Given the description of an element on the screen output the (x, y) to click on. 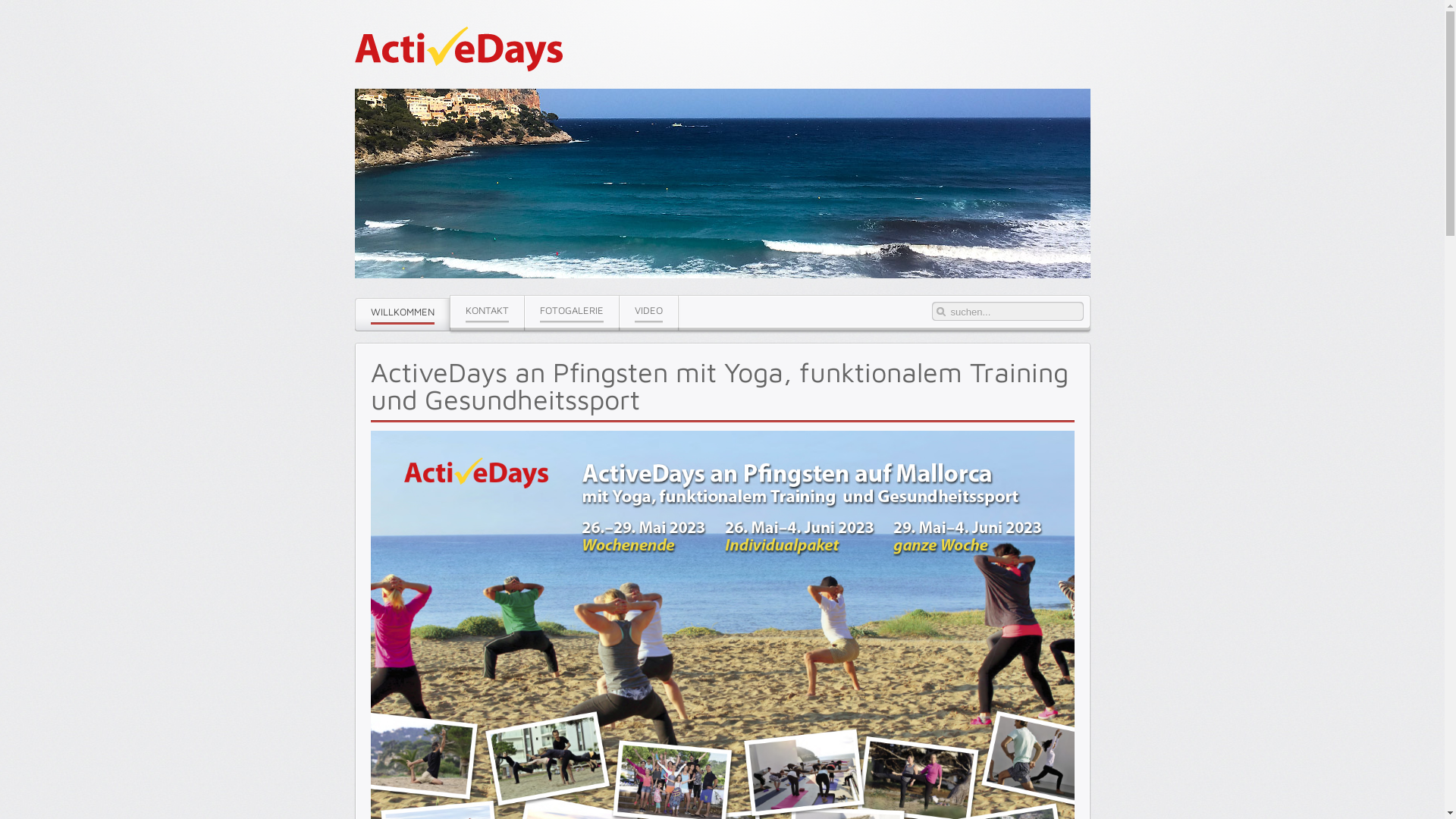
WILLKOMMEN Element type: text (401, 314)
Reset Element type: text (3, 3)
VIDEO Element type: text (647, 310)
FOTOGALERIE Element type: text (571, 310)
KONTAKT Element type: text (487, 310)
